Given the description of an element on the screen output the (x, y) to click on. 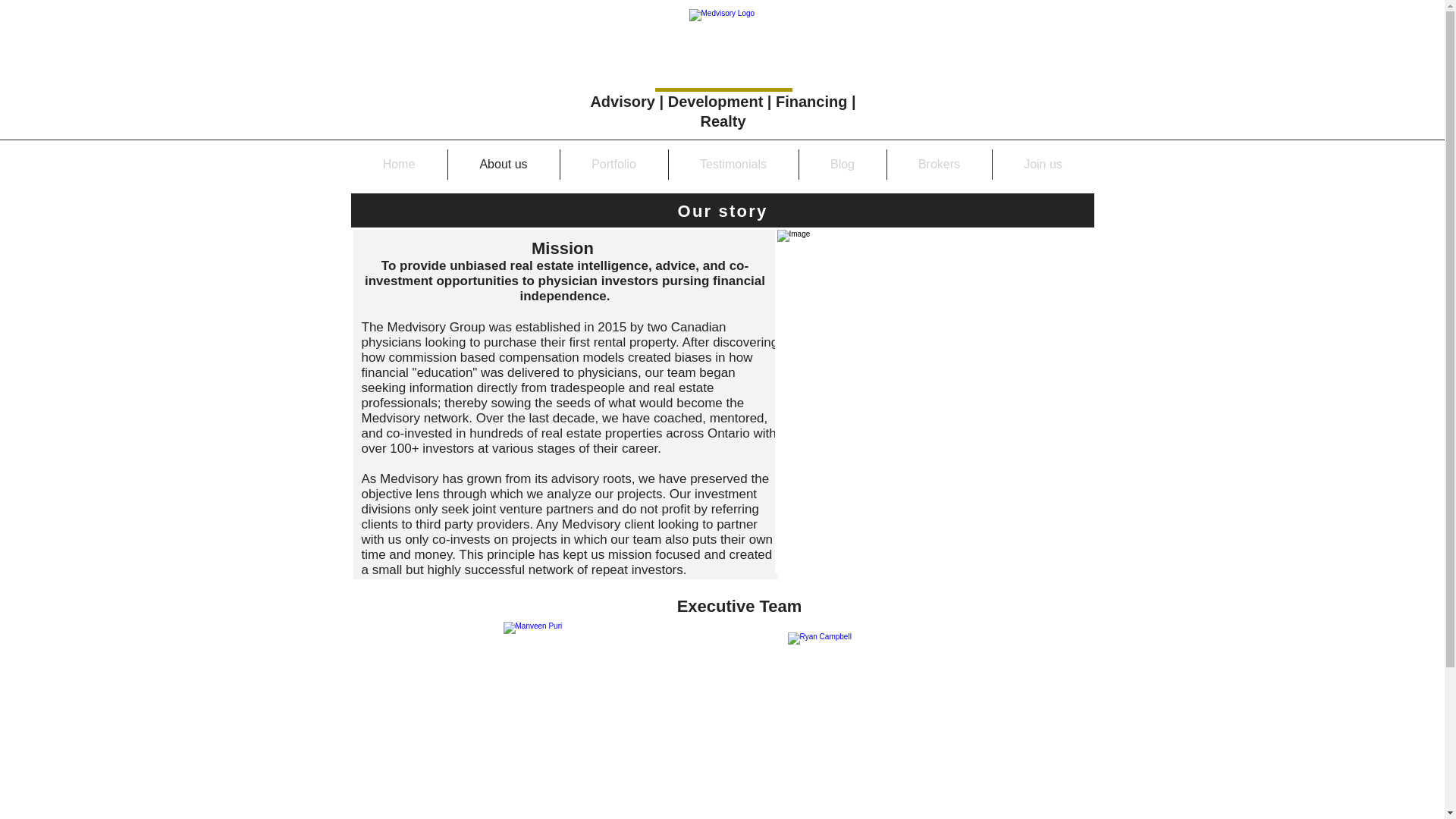
About us (502, 164)
Home (398, 164)
Blog (842, 164)
Portfolio (612, 164)
Testimonials (732, 164)
Join us (1042, 164)
Brokers (938, 164)
